Given the description of an element on the screen output the (x, y) to click on. 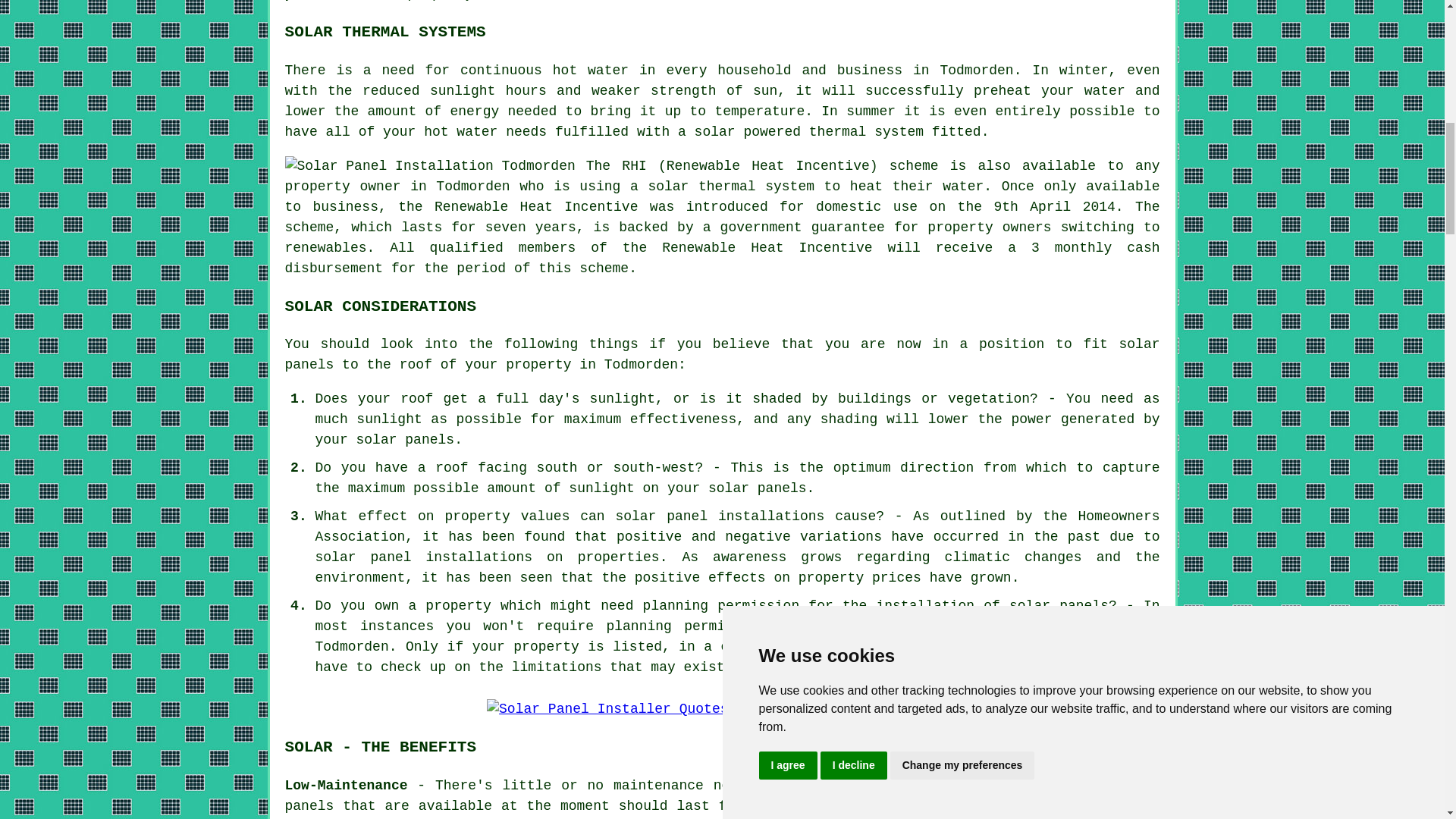
Solar Panel Installation Todmorden (430, 166)
Solar Panel Installer Quotes in Todmorden West Yorkshire (722, 709)
solar panel installations (423, 557)
